Given the description of an element on the screen output the (x, y) to click on. 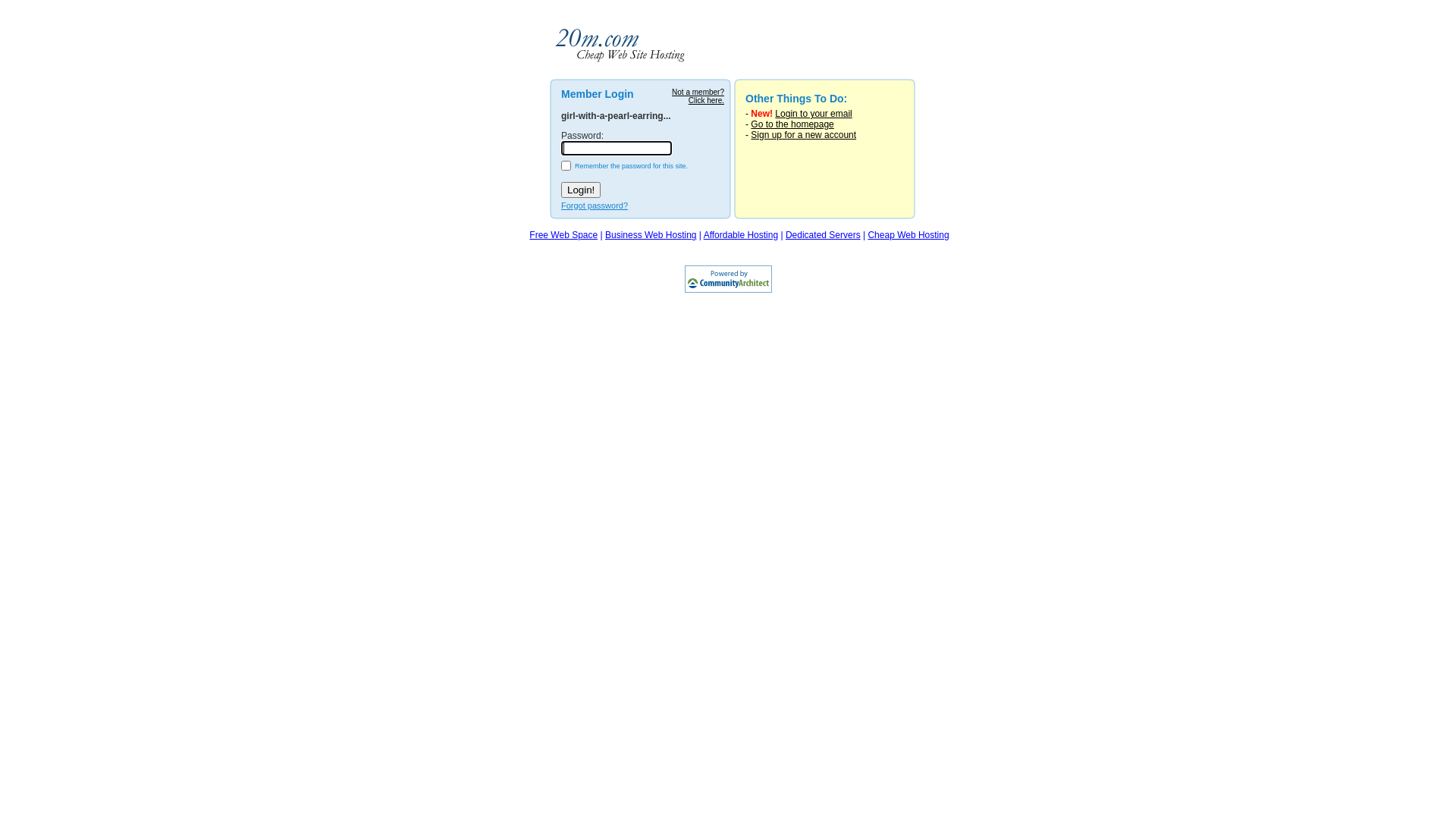
Login! Element type: text (580, 189)
Go to the homepage Element type: text (791, 124)
Login to your email Element type: text (813, 113)
Not a member?
Click here. Element type: text (697, 95)
Sign up for a new account Element type: text (803, 134)
Forgot password? Element type: text (594, 205)
Free Web Space Element type: text (563, 234)
Affordable Hosting Element type: text (740, 234)
Dedicated Servers Element type: text (822, 234)
Business Web Hosting Element type: text (650, 234)
Cheap Web Hosting Element type: text (907, 234)
